Given the description of an element on the screen output the (x, y) to click on. 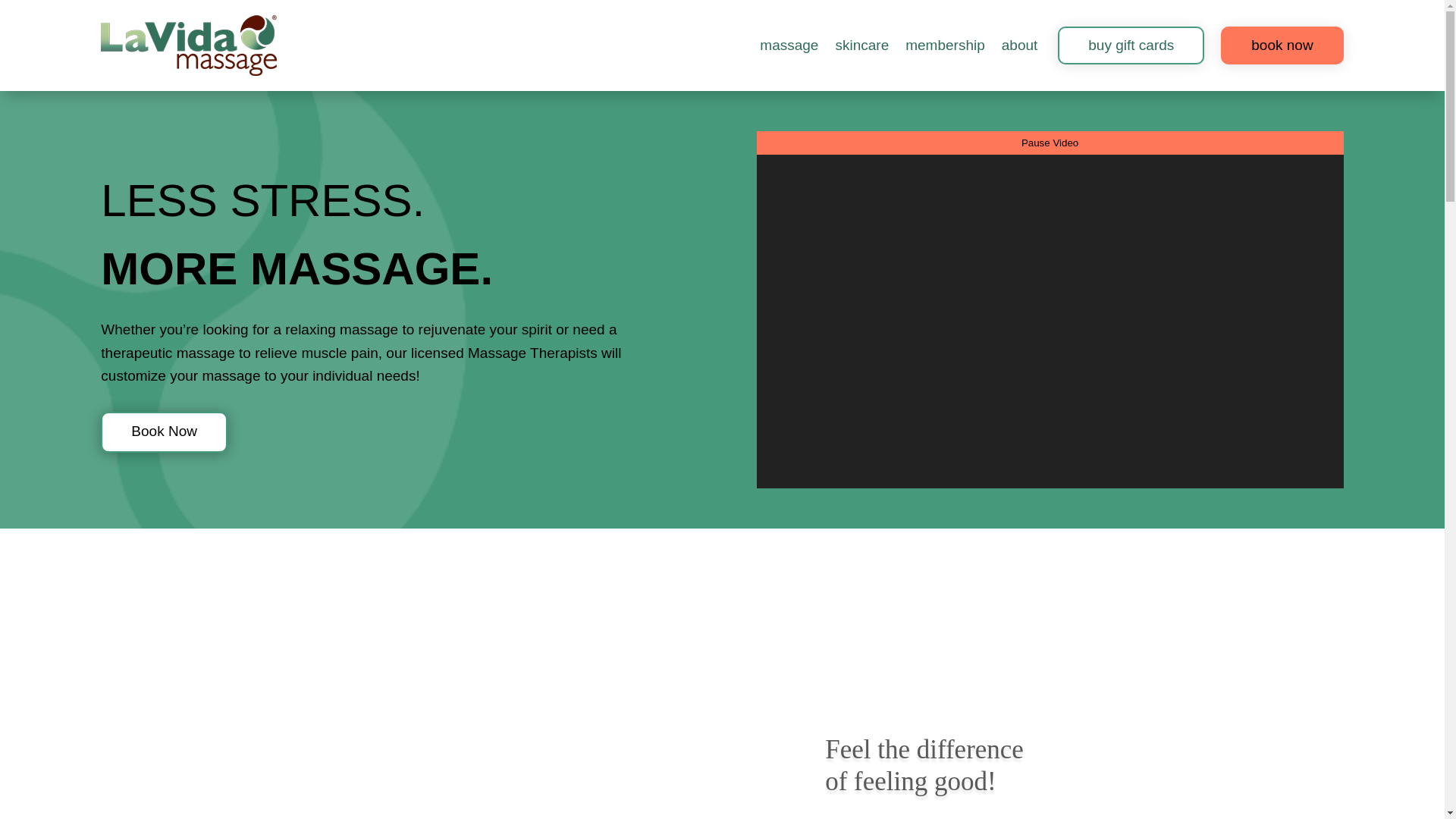
Pause Video (1050, 142)
buy gift cards (1131, 45)
massage (789, 45)
book now (1281, 45)
membership (945, 45)
Book Now (163, 431)
